Given the description of an element on the screen output the (x, y) to click on. 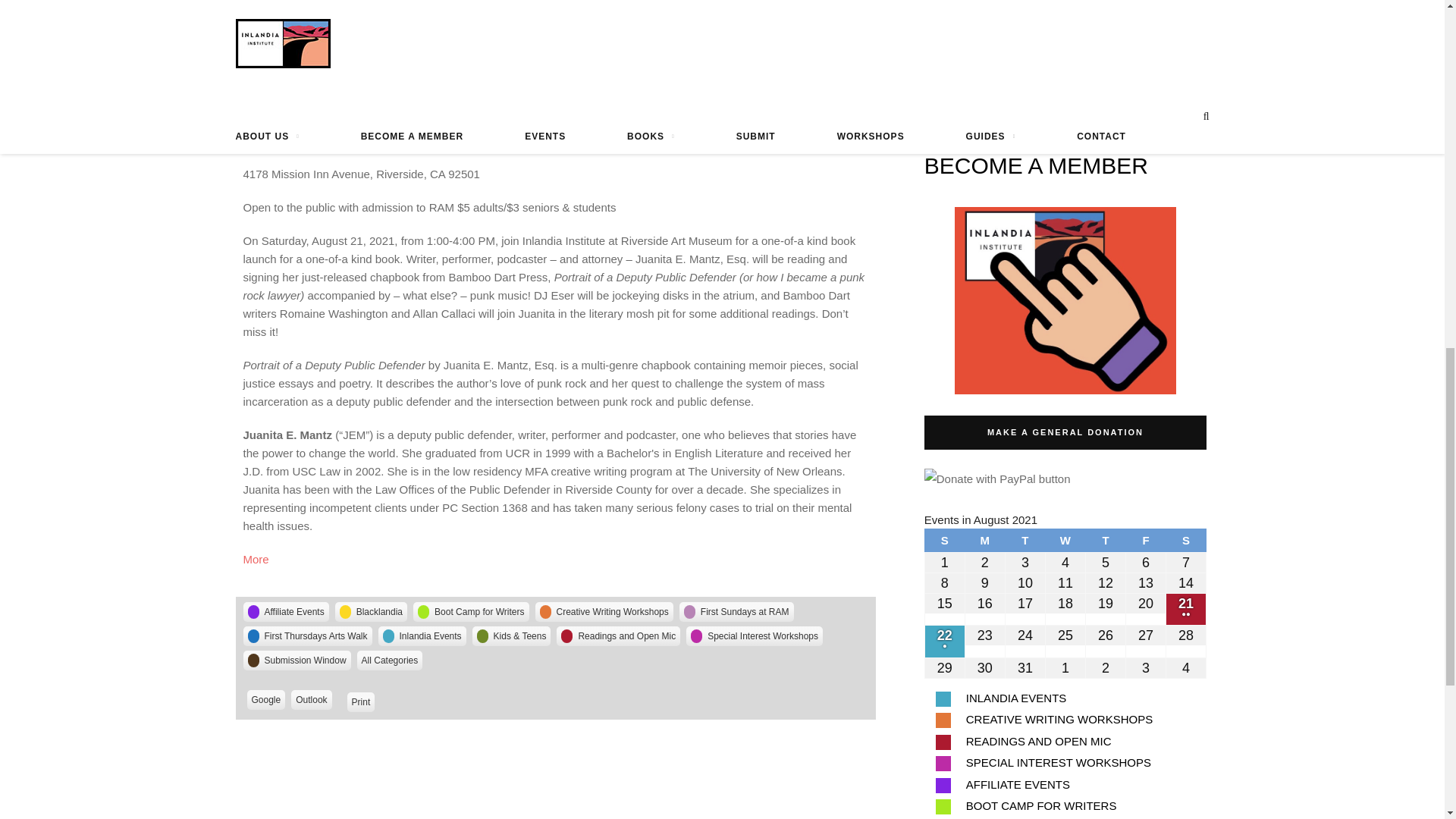
PayPal - The safer, easier way to pay online! (997, 478)
